Given the description of an element on the screen output the (x, y) to click on. 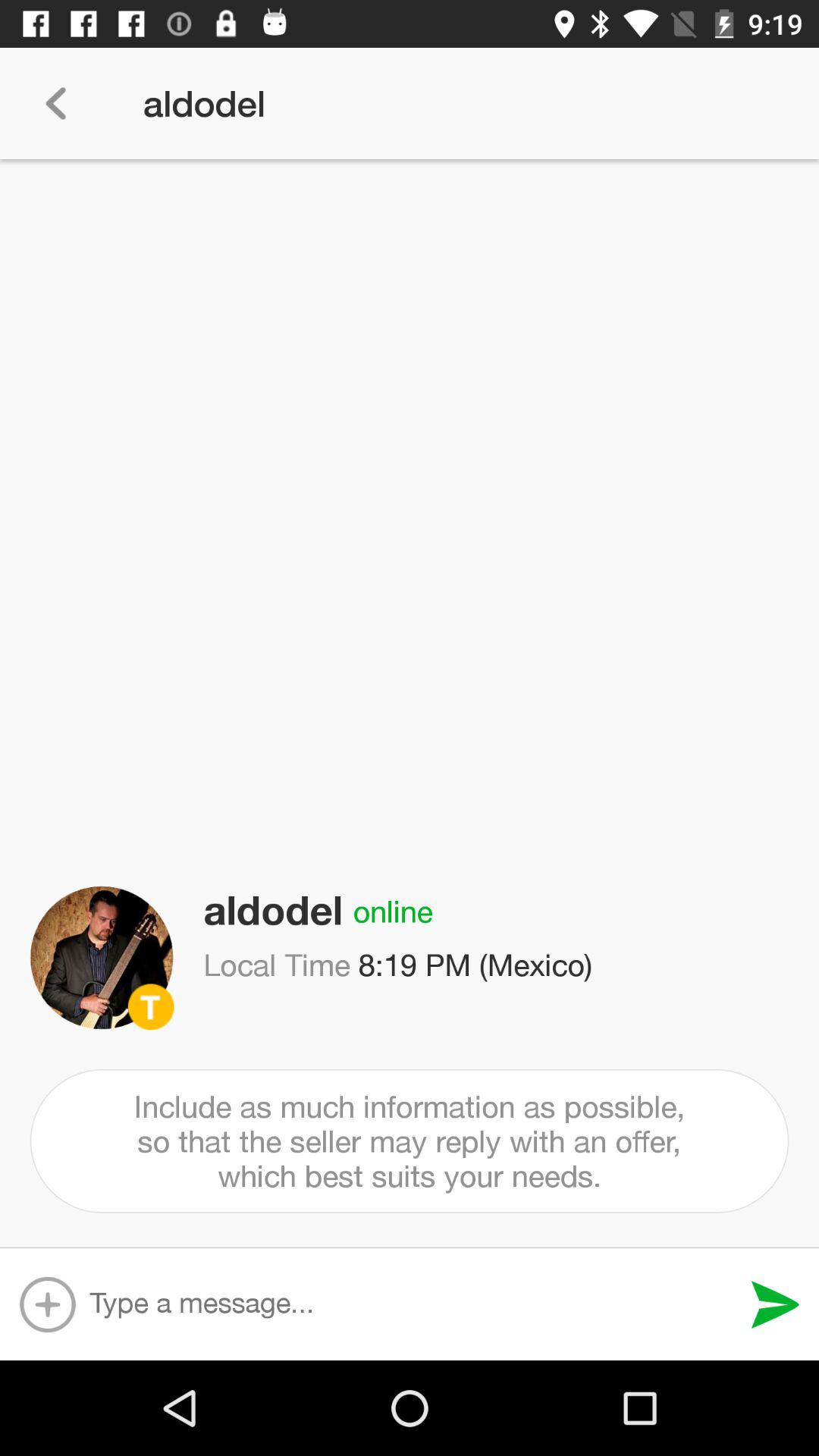
input message (413, 1304)
